Given the description of an element on the screen output the (x, y) to click on. 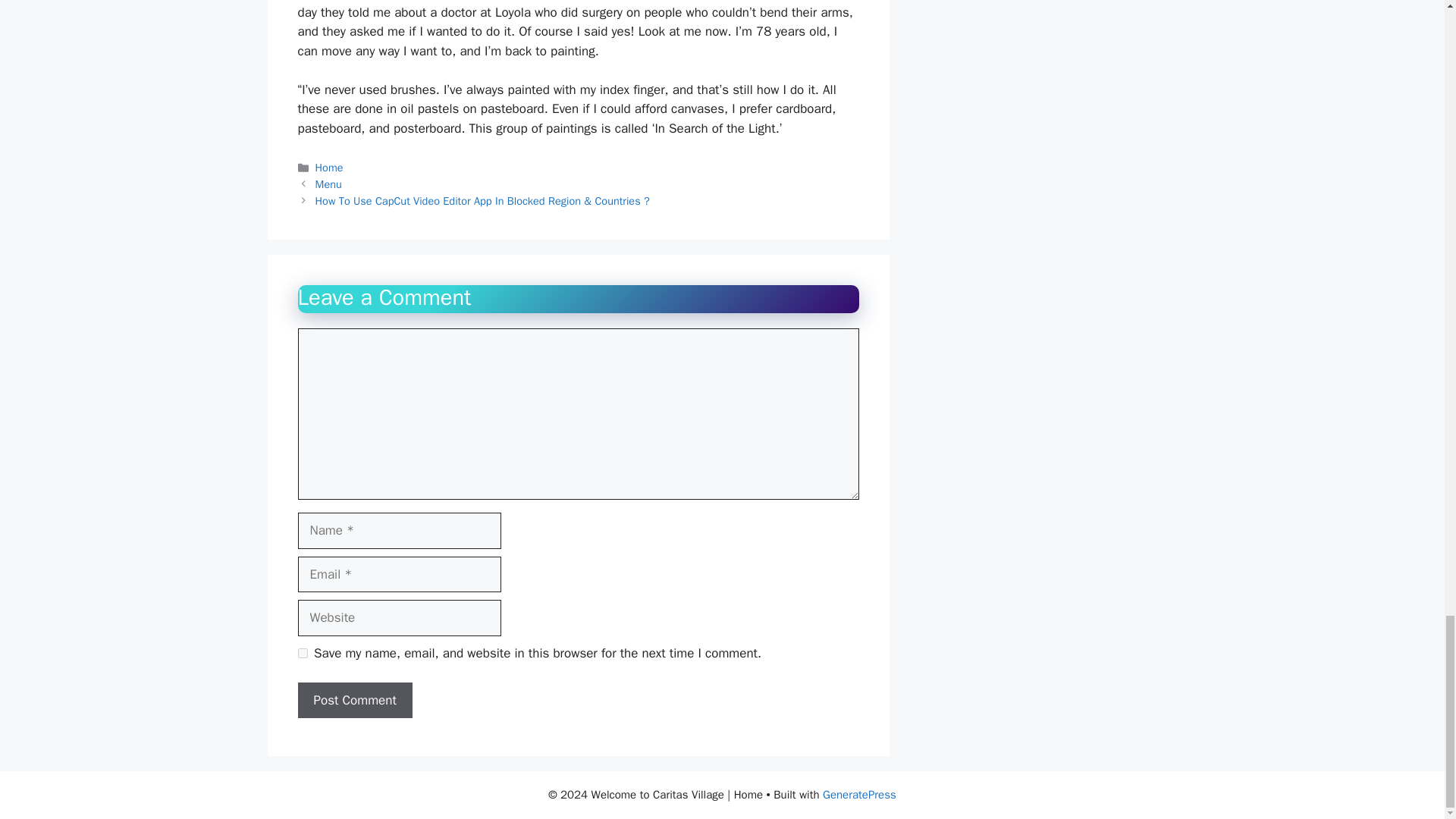
Post Comment (354, 700)
Home (329, 167)
Menu (328, 183)
yes (302, 653)
Post Comment (354, 700)
GeneratePress (859, 794)
